Given the description of an element on the screen output the (x, y) to click on. 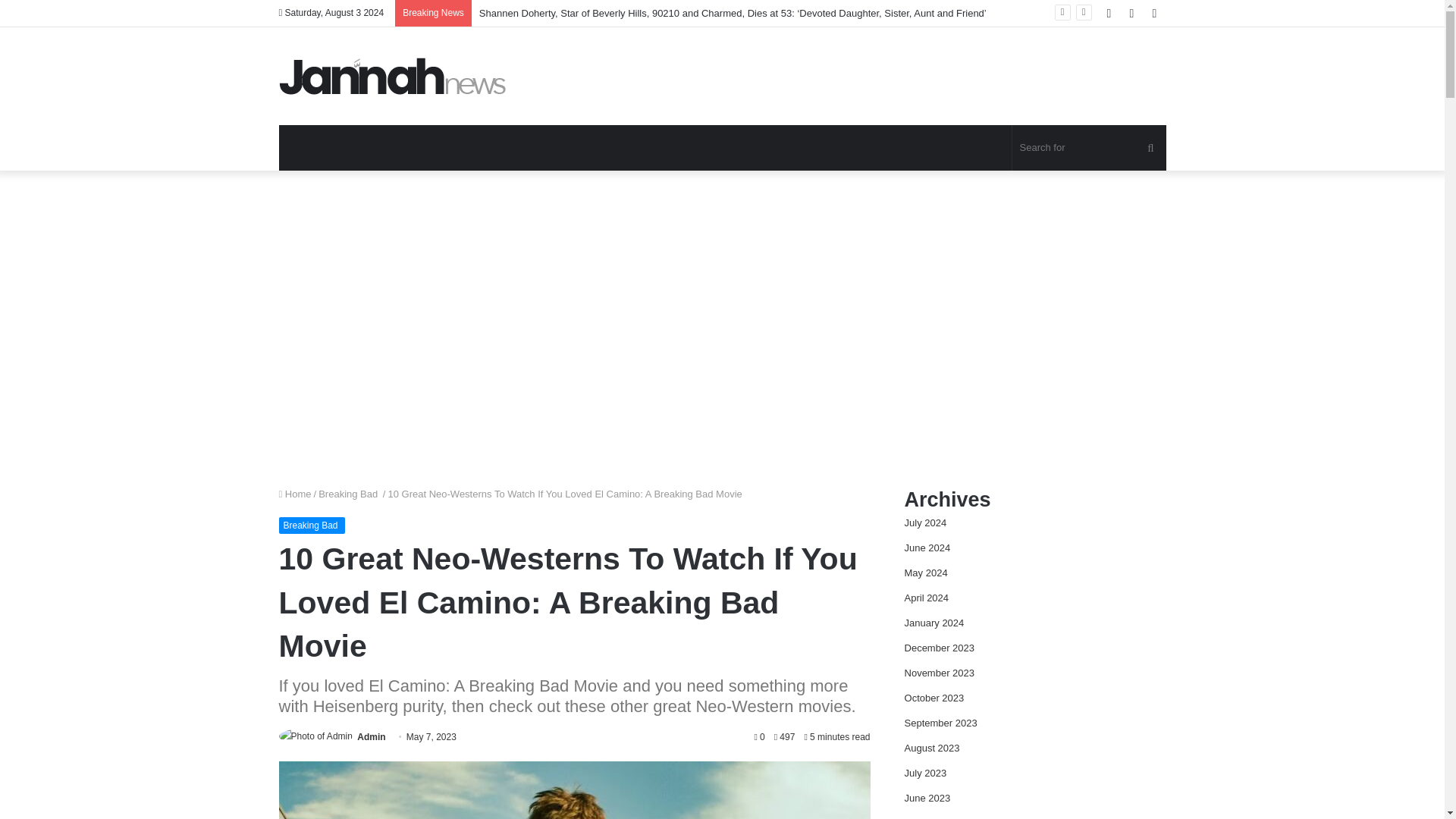
Admin (370, 737)
Home (295, 493)
Breaking Bad  (349, 493)
Admin (370, 737)
Search for (1088, 147)
Breaking Bad  (312, 524)
Movie News (392, 76)
